Given the description of an element on the screen output the (x, y) to click on. 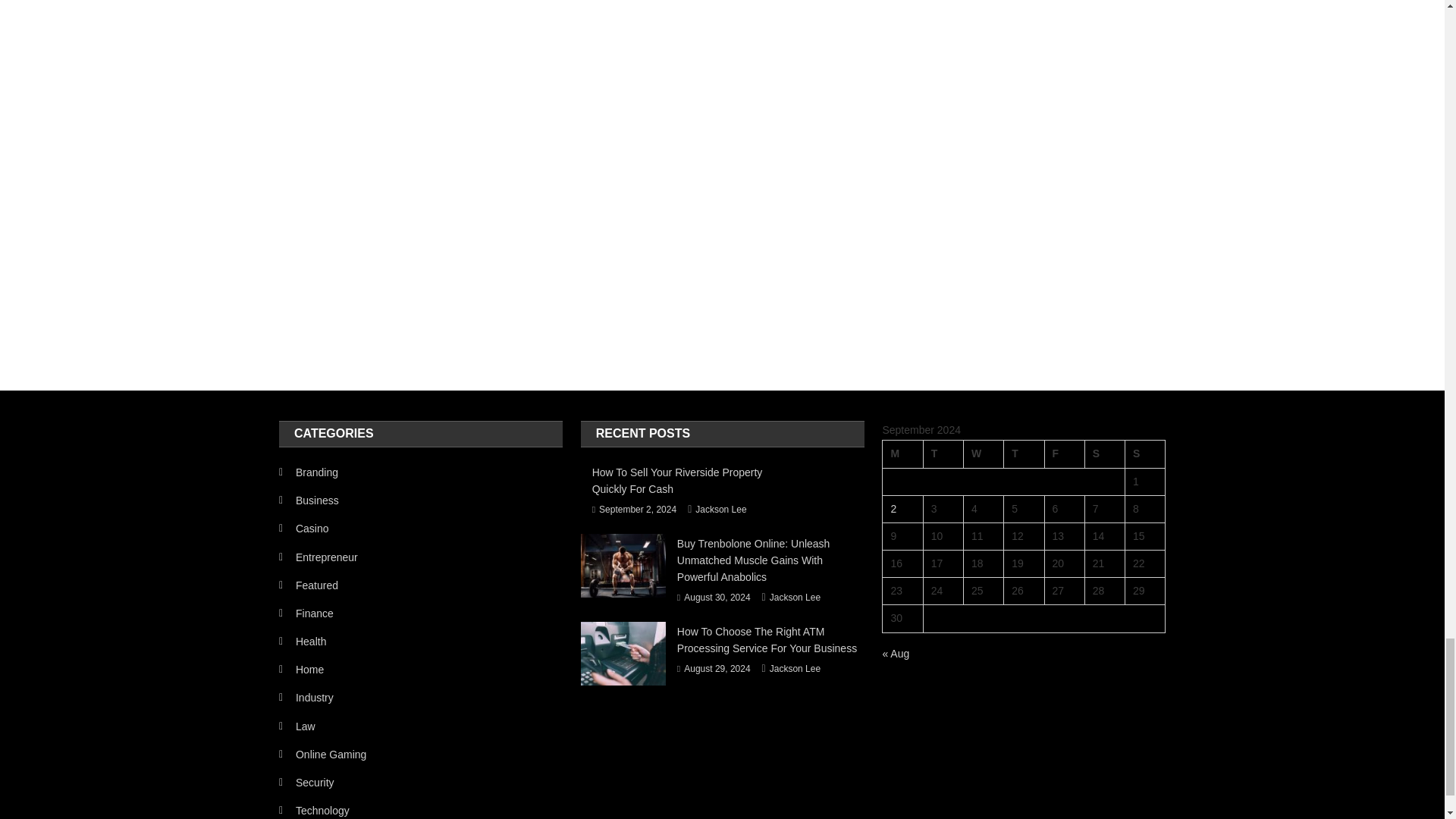
Wednesday (982, 453)
Monday (902, 453)
Friday (1063, 453)
Saturday (1104, 453)
Sunday (1145, 453)
Thursday (1023, 453)
Tuesday (942, 453)
